Given the description of an element on the screen output the (x, y) to click on. 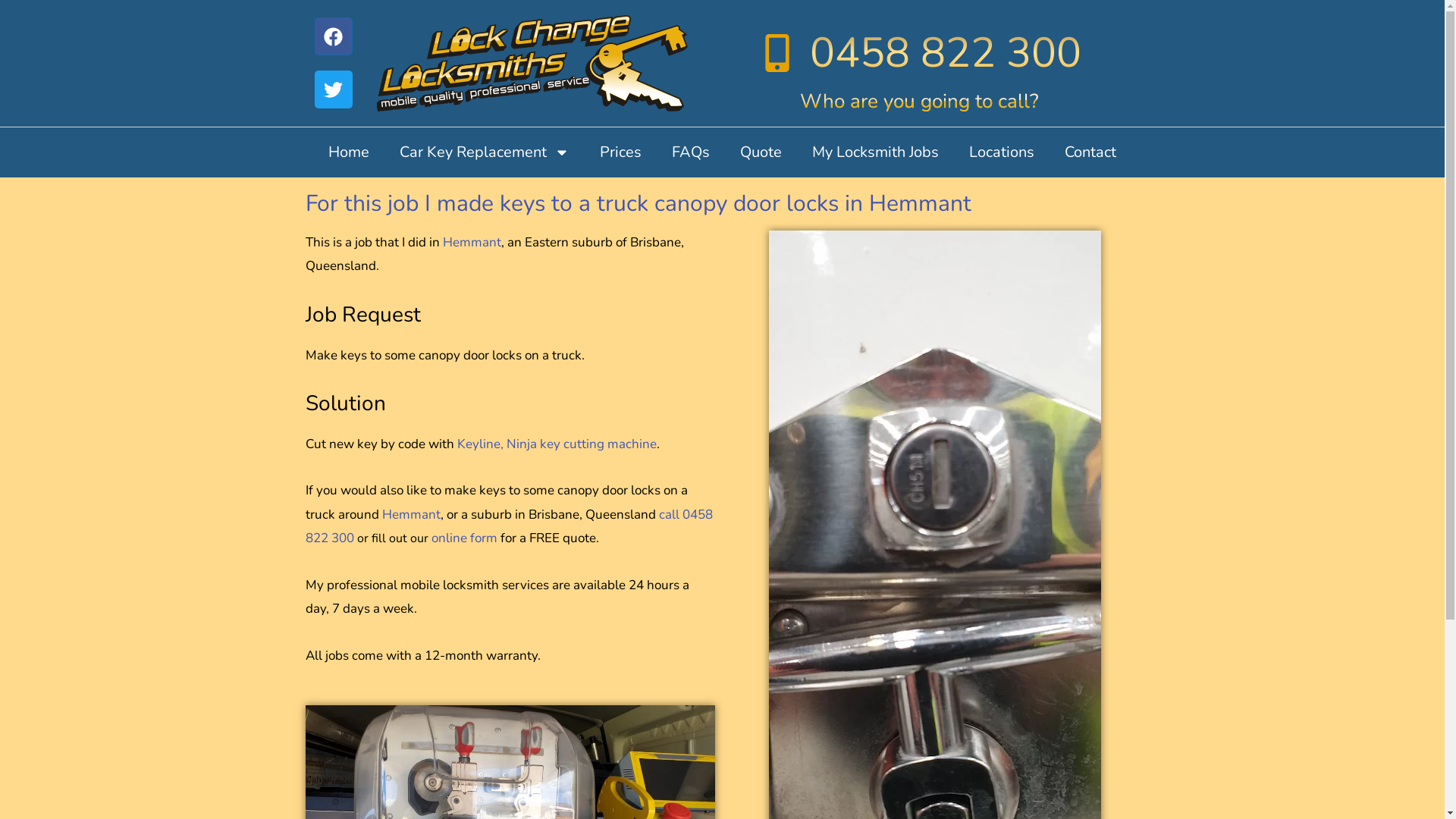
Twitter Element type: text (332, 89)
Hemmant Element type: text (411, 514)
FAQs Element type: text (690, 151)
Home Element type: text (348, 151)
Quote Element type: text (760, 151)
Contact Element type: text (1090, 151)
call 0458 822 300 Element type: text (508, 526)
Locations Element type: text (1001, 151)
Car Key Replacement Element type: text (484, 151)
My Locksmith Jobs Element type: text (875, 151)
0458 822 300 Element type: text (919, 52)
Keyline, Ninja key cutting machine Element type: text (555, 443)
Hemmant Element type: text (471, 242)
Prices Element type: text (620, 151)
online form Element type: text (463, 537)
Facebook Element type: text (332, 36)
